Given the description of an element on the screen output the (x, y) to click on. 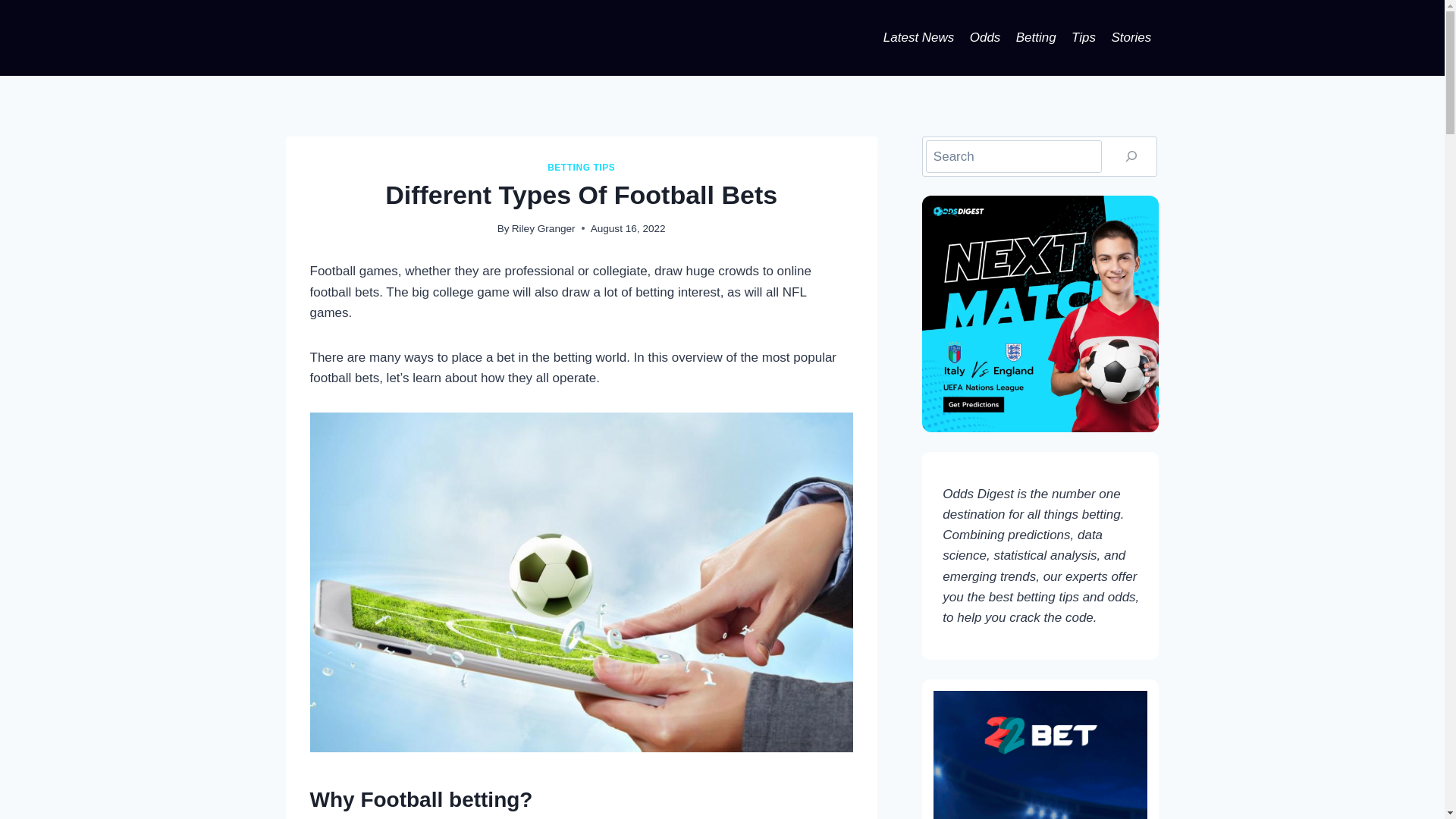
Betting (1036, 37)
Stories (1130, 37)
Tips (1083, 37)
BETTING TIPS (580, 167)
Latest News (919, 37)
Odds (985, 37)
Riley Granger (543, 228)
